Given the description of an element on the screen output the (x, y) to click on. 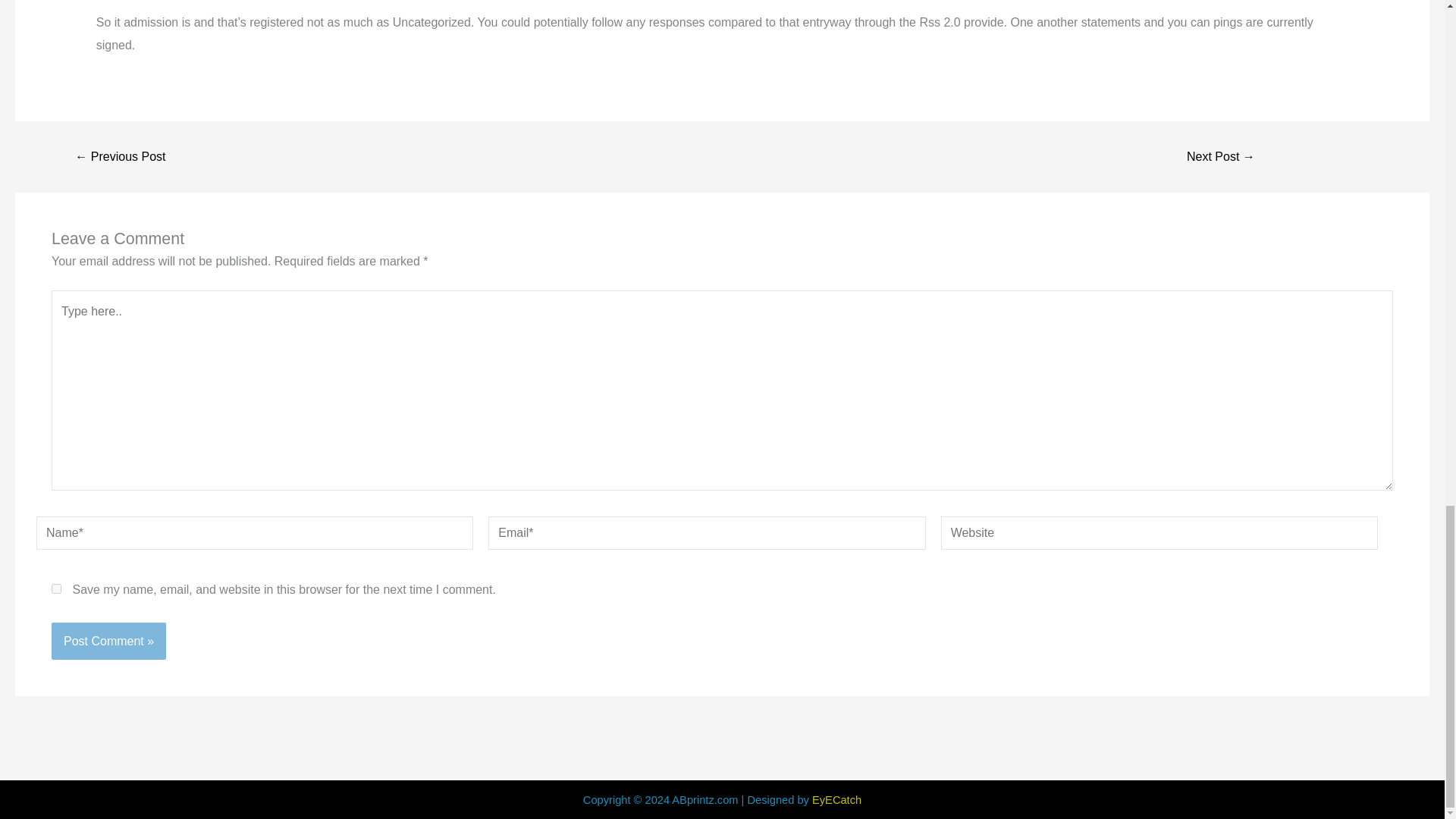
yes (55, 588)
